Given the description of an element on the screen output the (x, y) to click on. 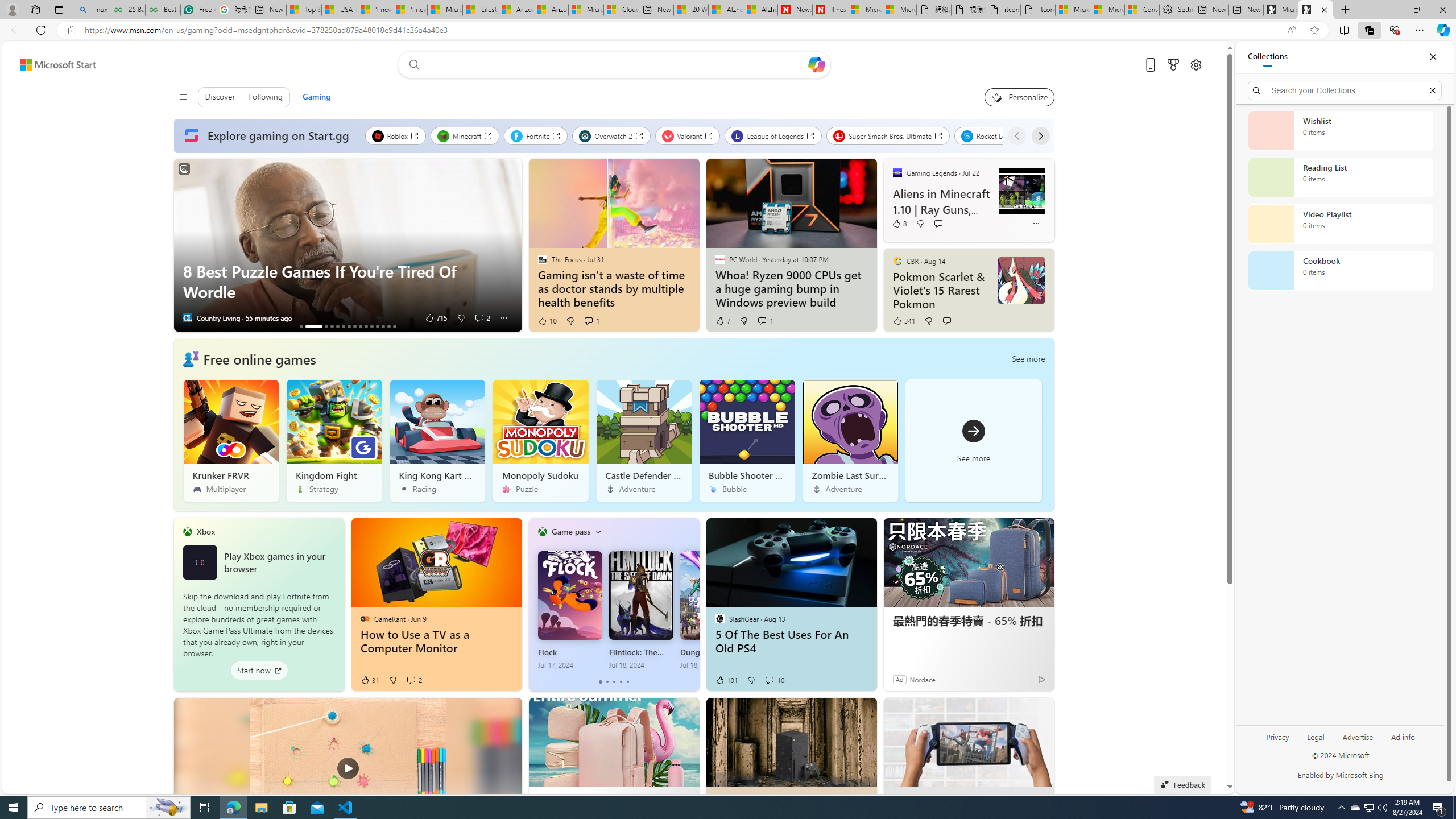
tab-1 (606, 682)
The Focus (542, 258)
Free online games See more (613, 424)
Class: control icon-only (182, 97)
GameRant (364, 618)
View comments 10 Comment (774, 680)
Class: icon-img (597, 531)
Best Mini Gaming PCs In 2024 (354, 326)
Lifestyle - MSN (479, 9)
AutomationID: casualCarouselIcon (190, 358)
Free online games (258, 358)
